Given the description of an element on the screen output the (x, y) to click on. 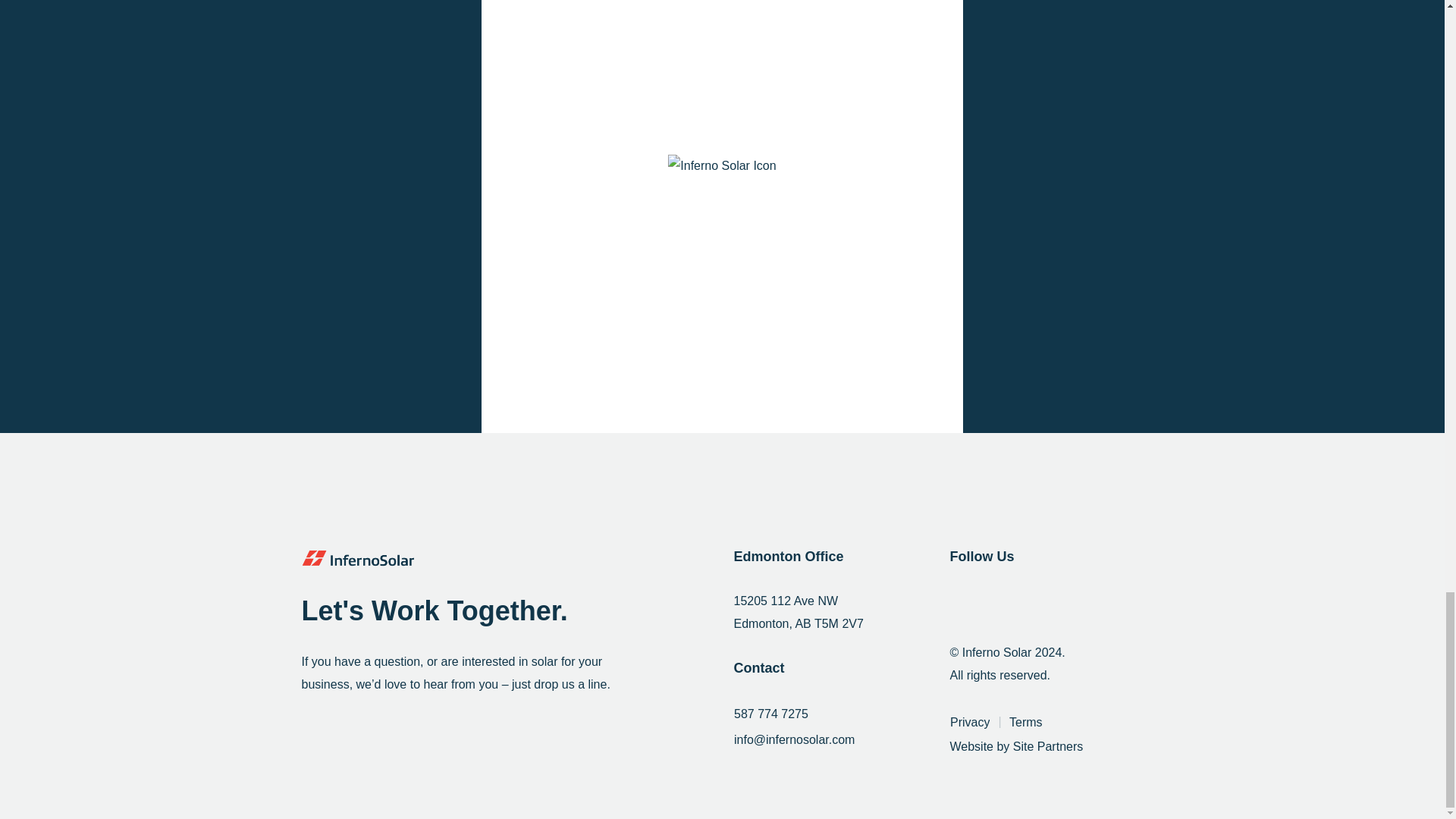
Site Partners (1048, 746)
Terms (1026, 722)
587 774 7275 (771, 714)
Privacy (969, 722)
